Given the description of an element on the screen output the (x, y) to click on. 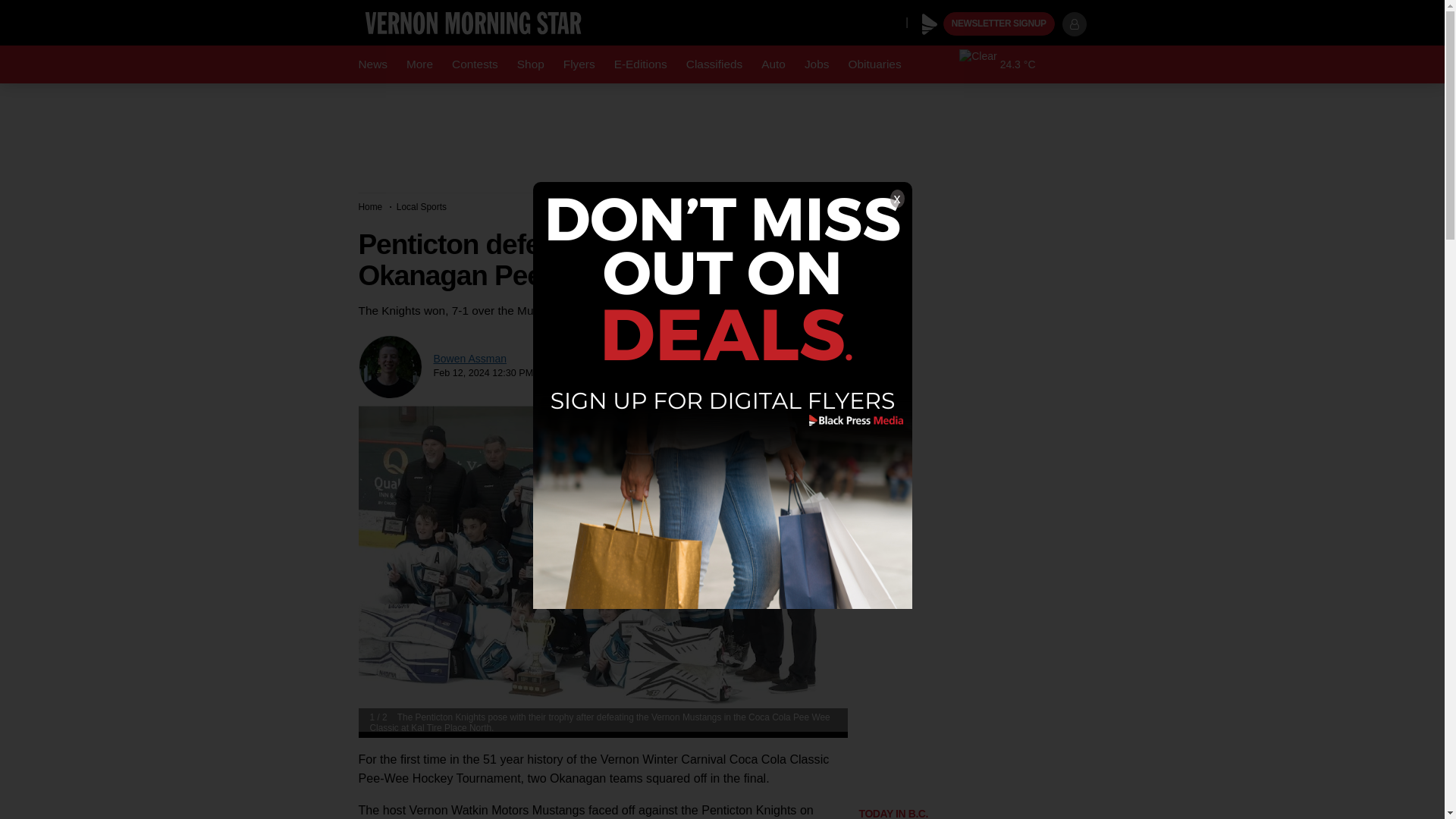
NEWSLETTER SIGNUP (998, 24)
Play (929, 24)
Expand (829, 420)
Black Press Media (929, 24)
X (889, 21)
News (372, 64)
